Given the description of an element on the screen output the (x, y) to click on. 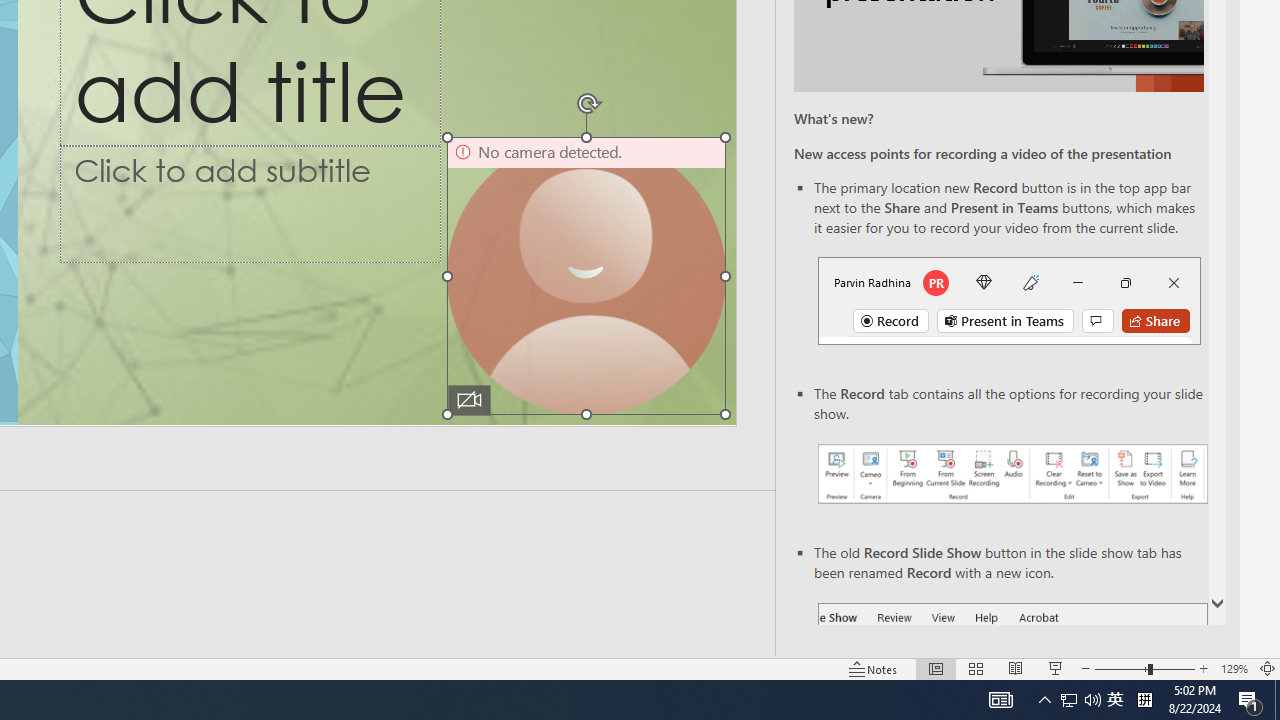
Subtitle TextBox (250, 203)
